Given the description of an element on the screen output the (x, y) to click on. 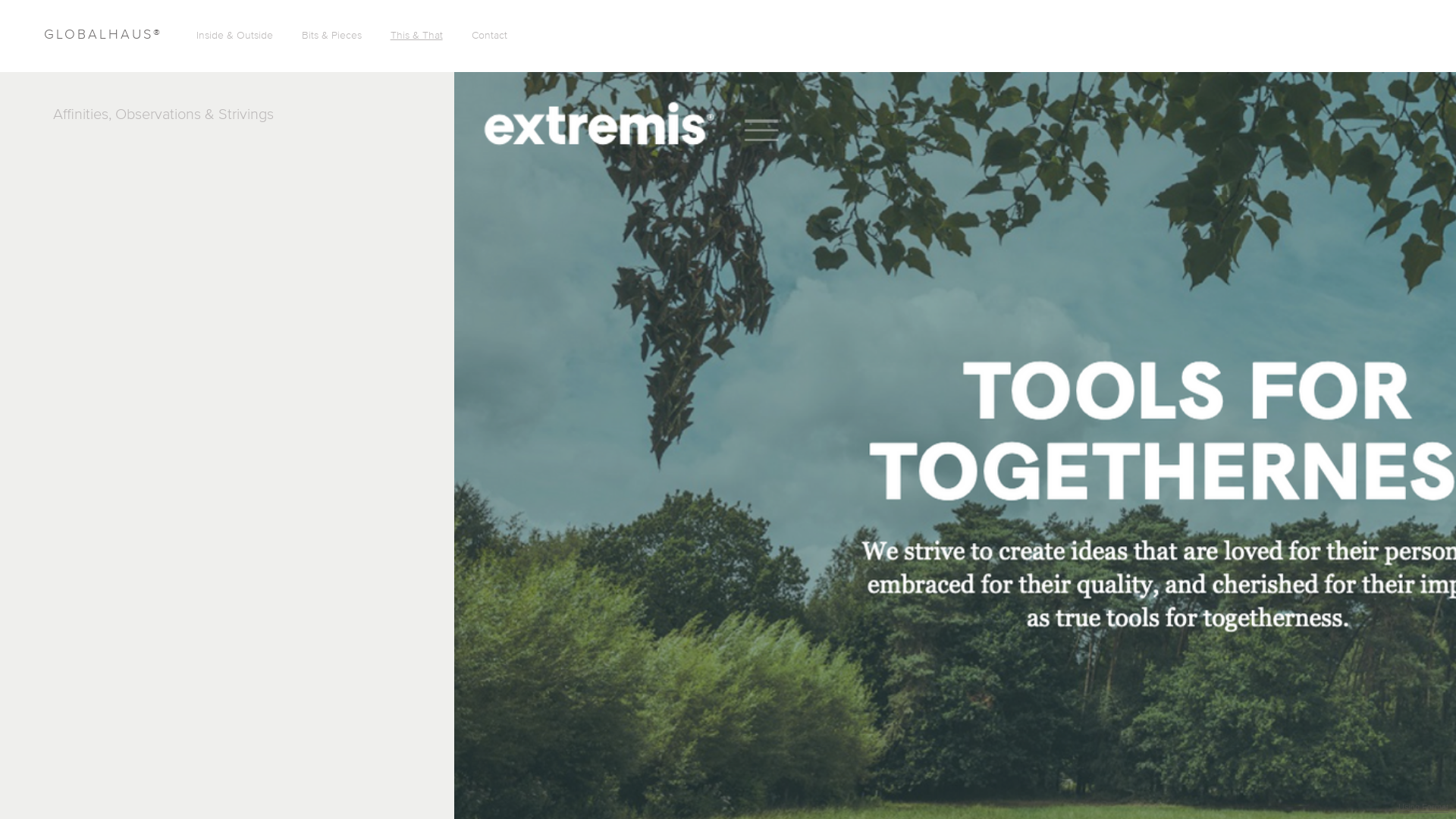
This & That Element type: text (416, 35)
Contact Element type: text (489, 35)
Using Format Element type: text (1423, 807)
Inside & Outside Element type: text (234, 35)
Bits & Pieces Element type: text (331, 35)
